Given the description of an element on the screen output the (x, y) to click on. 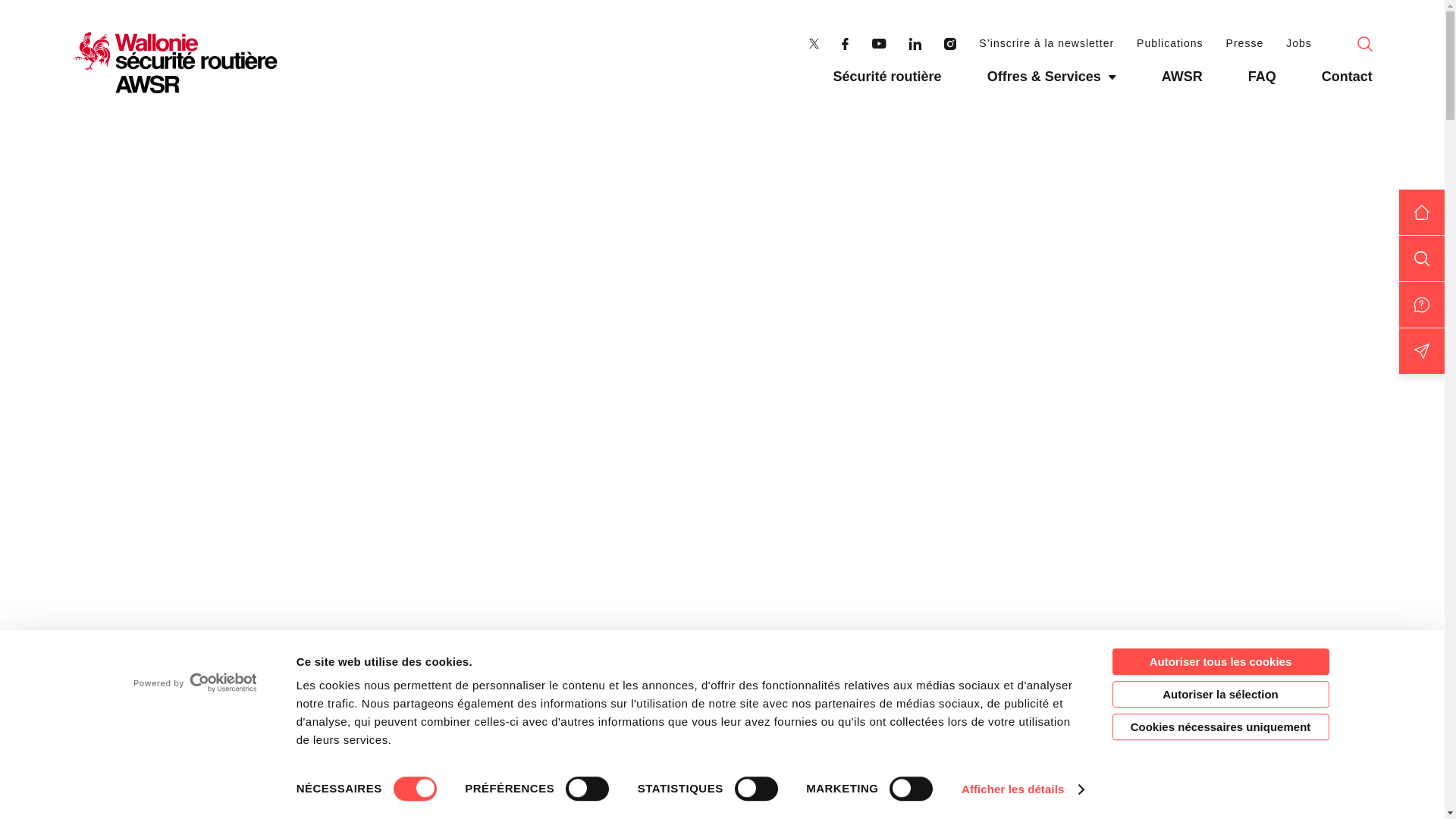
Autoriser tous les cookies Element type: text (1219, 661)
Instagram Element type: text (950, 43)
AWSR Element type: text (175, 62)
Youtube Element type: text (878, 43)
Jobs Element type: text (1298, 43)
Contact Element type: text (1346, 78)
Publications Element type: text (1169, 43)
Search Element type: text (1364, 43)
Offres & Services Element type: text (1051, 78)
Facebook Element type: text (844, 43)
FAQ Element type: text (1262, 78)
AWSR Element type: text (1181, 78)
Linkedin Element type: text (915, 43)
Twitter Element type: text (814, 43)
Presse Element type: text (1245, 43)
